Given the description of an element on the screen output the (x, y) to click on. 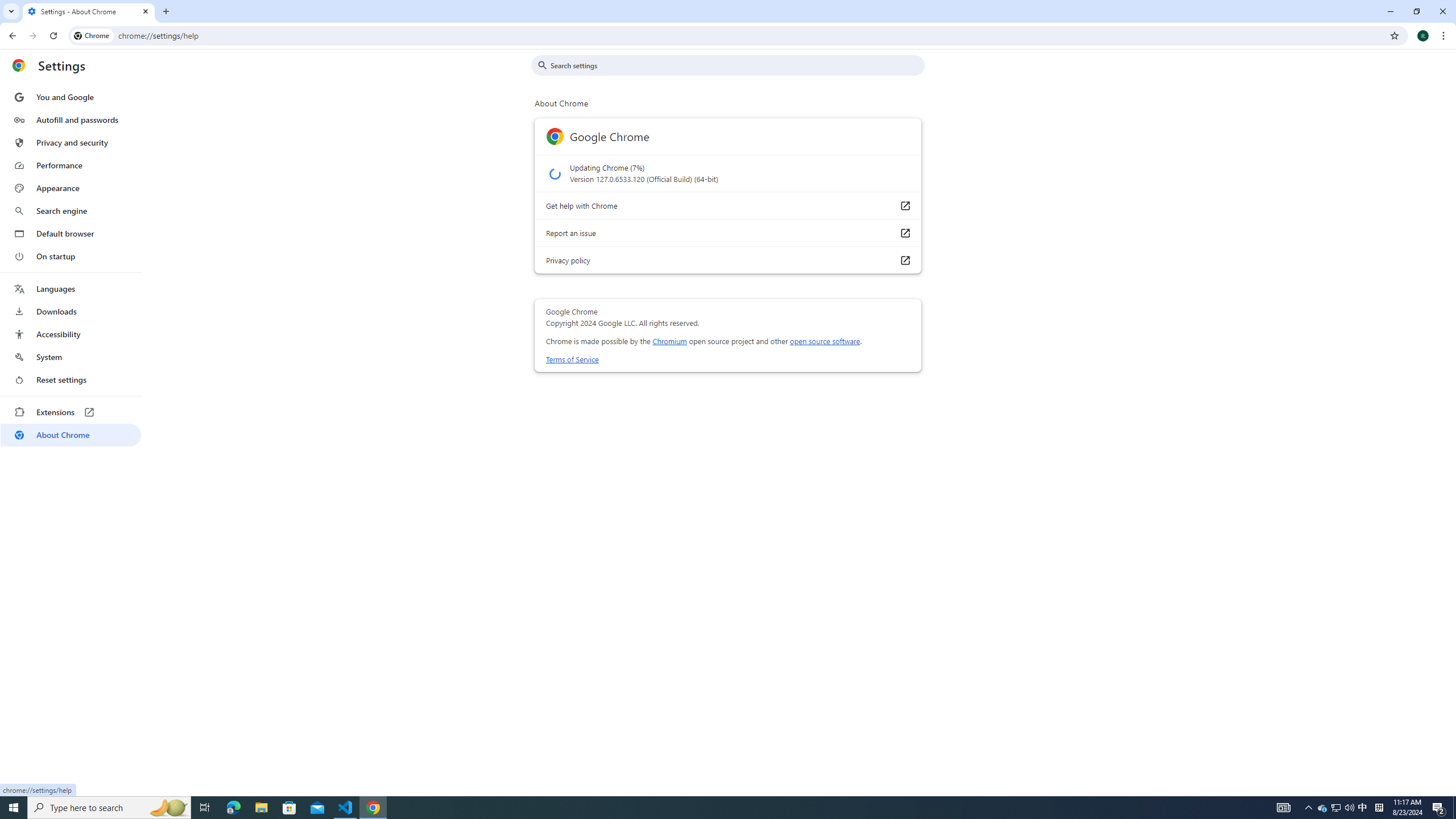
Languages (70, 288)
Chromium (669, 340)
Get help with Chrome (904, 205)
Privacy and security (70, 142)
Privacy policy (904, 259)
Accessibility (70, 333)
Extensions (70, 412)
